Given the description of an element on the screen output the (x, y) to click on. 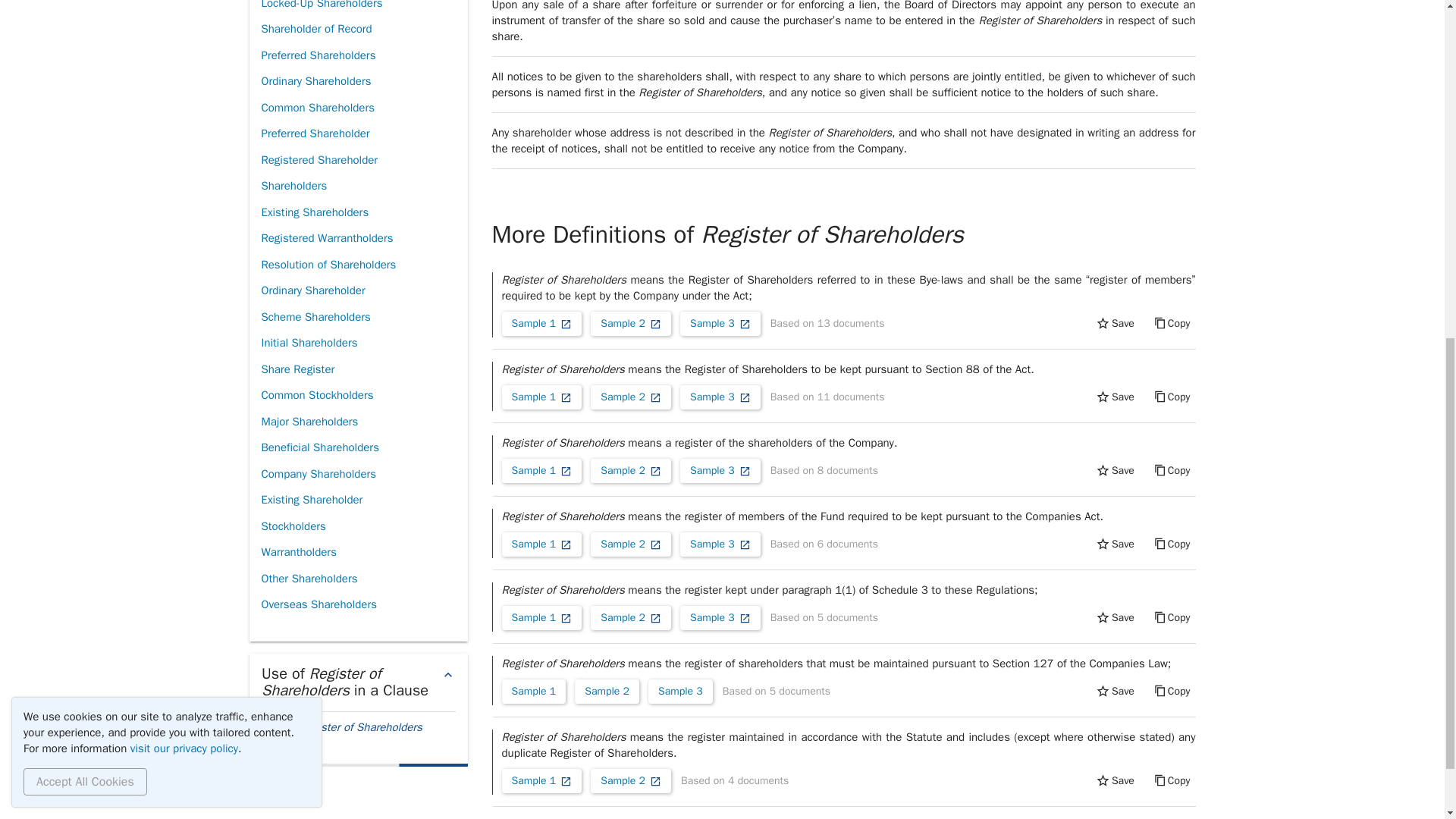
Shareholder of Record (315, 28)
Preferred Shareholders (317, 55)
Scheme Shareholders (314, 316)
Locked-Up Shareholders (320, 8)
Existing Shareholders (314, 212)
Registered Warrantholders (326, 238)
Initial Shareholders (308, 343)
Accept All Cookies (85, 158)
Share Register (297, 369)
Resolution of Shareholders (328, 264)
Preferred Shareholder (314, 133)
Common Shareholders (317, 108)
visit our privacy policy (184, 125)
Registered Shareholder (318, 160)
Ordinary Shareholders (315, 81)
